Given the description of an element on the screen output the (x, y) to click on. 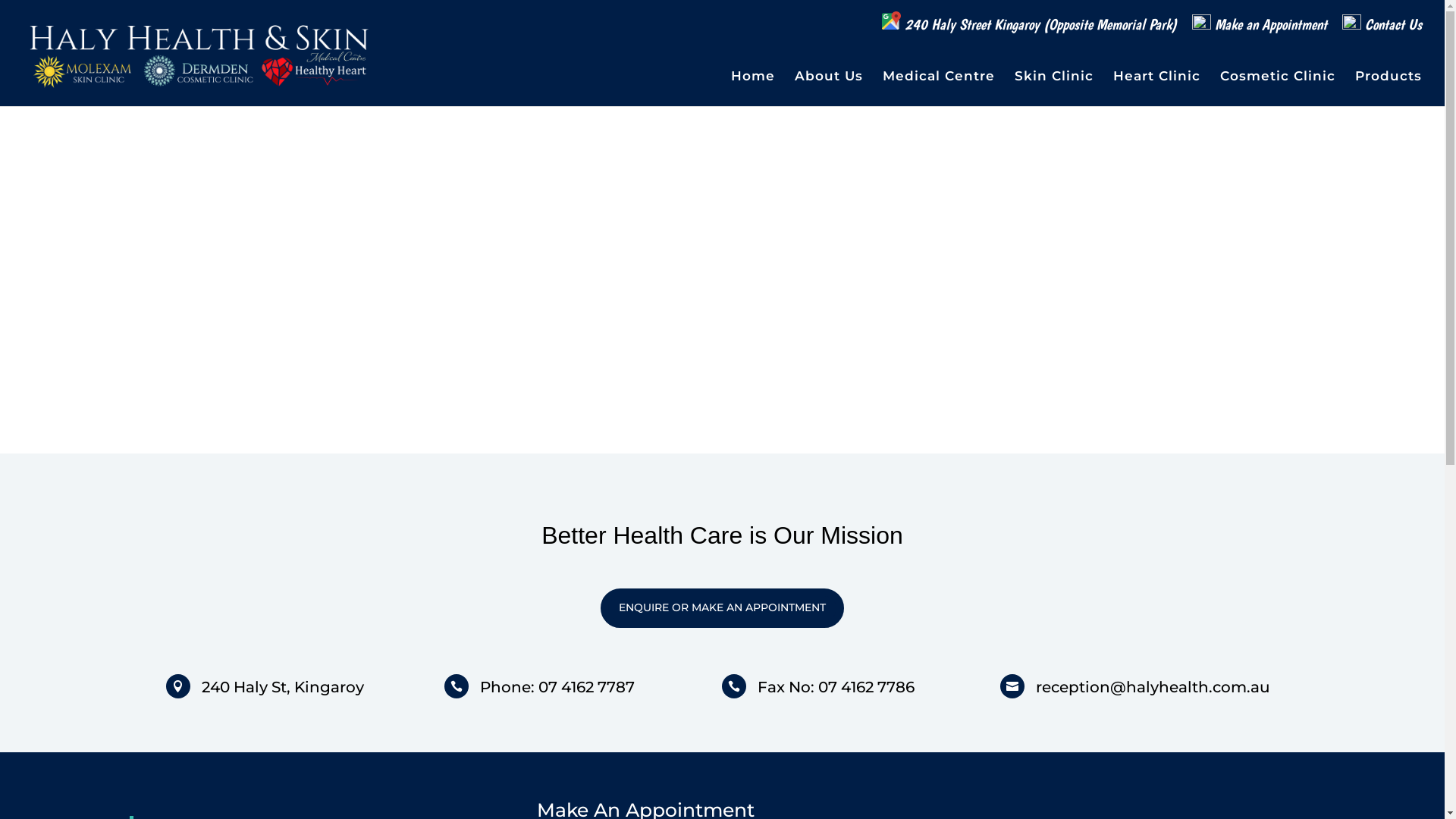
Heart Clinic Element type: text (1156, 88)
Medical Centre Element type: text (938, 88)
Contact Us Element type: text (1381, 29)
ENQUIRE OR MAKE AN APPOINTMENT Element type: text (722, 607)
Cosmetic Clinic Element type: text (1277, 88)
Make an Appointment Element type: text (1259, 29)
About Us Element type: text (828, 88)
Products Element type: text (1388, 88)
240 Haly Street Kingaroy (Opposite Memorial Park) Element type: text (1028, 27)
Home Element type: text (753, 88)
Skin Clinic Element type: text (1053, 88)
Skip to content Element type: text (0, 0)
